Given the description of an element on the screen output the (x, y) to click on. 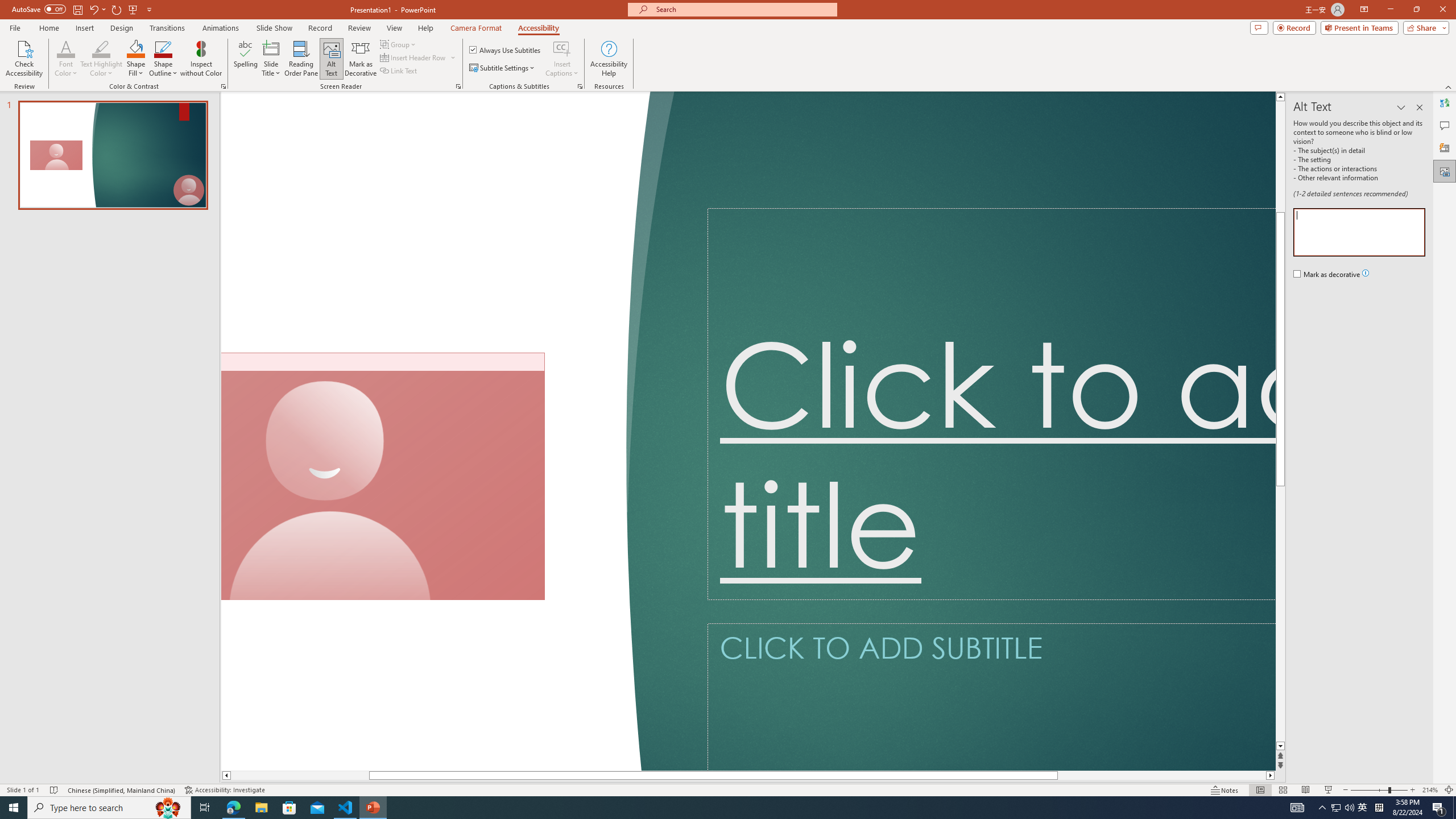
Description (1358, 231)
Reading Order Pane (301, 58)
Captions & Subtitles (580, 85)
Zoom 214% (1430, 790)
